Given the description of an element on the screen output the (x, y) to click on. 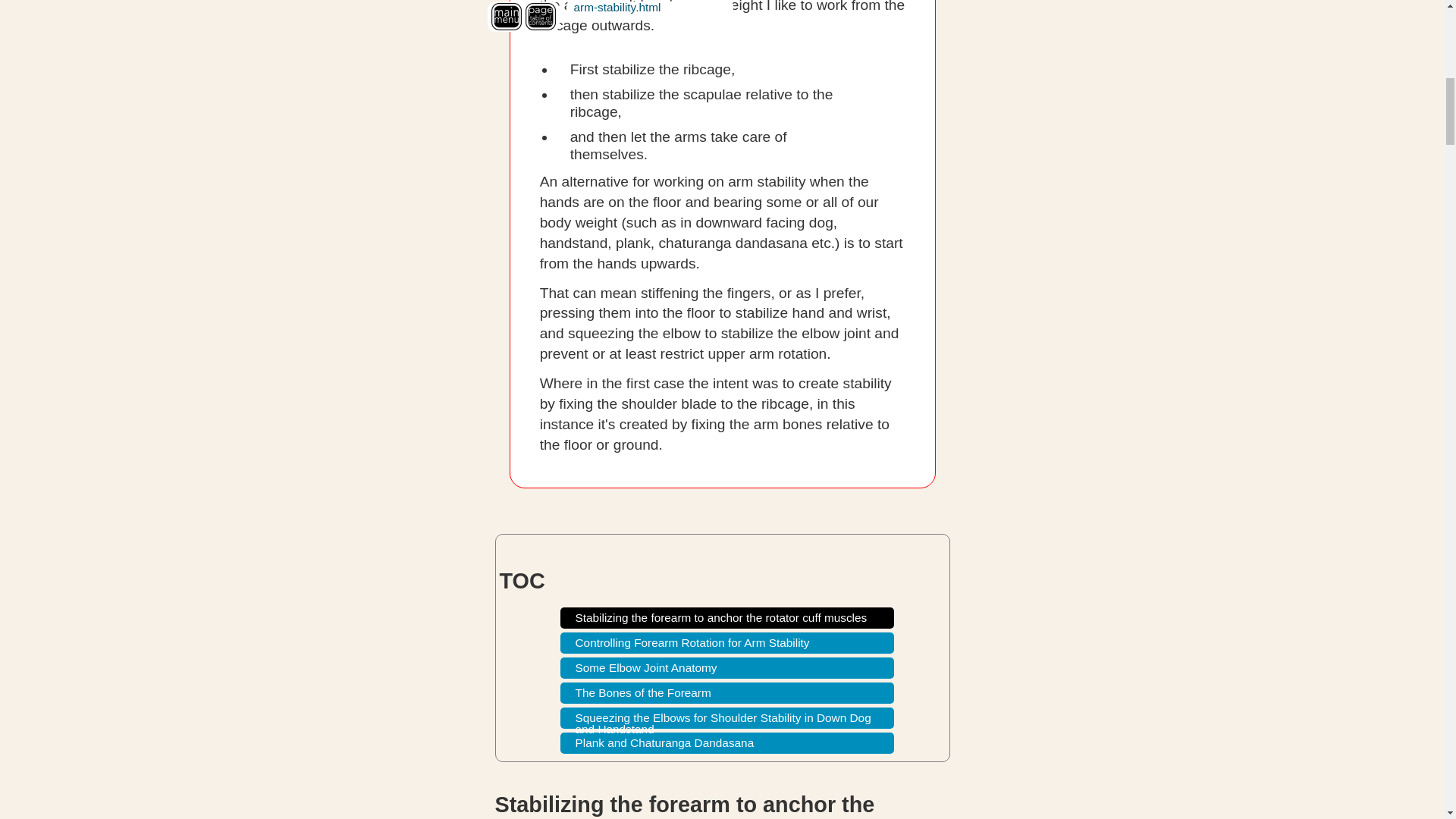
Some Elbow Joint Anatomy (726, 667)
Stabilizing the forearm to anchor the rotator cuff muscles (726, 617)
Plank and Chaturanga Dandasana (726, 742)
Controlling Forearm Rotation for Arm Stability (726, 642)
The Bones of the Forearm (726, 692)
